Given the description of an element on the screen output the (x, y) to click on. 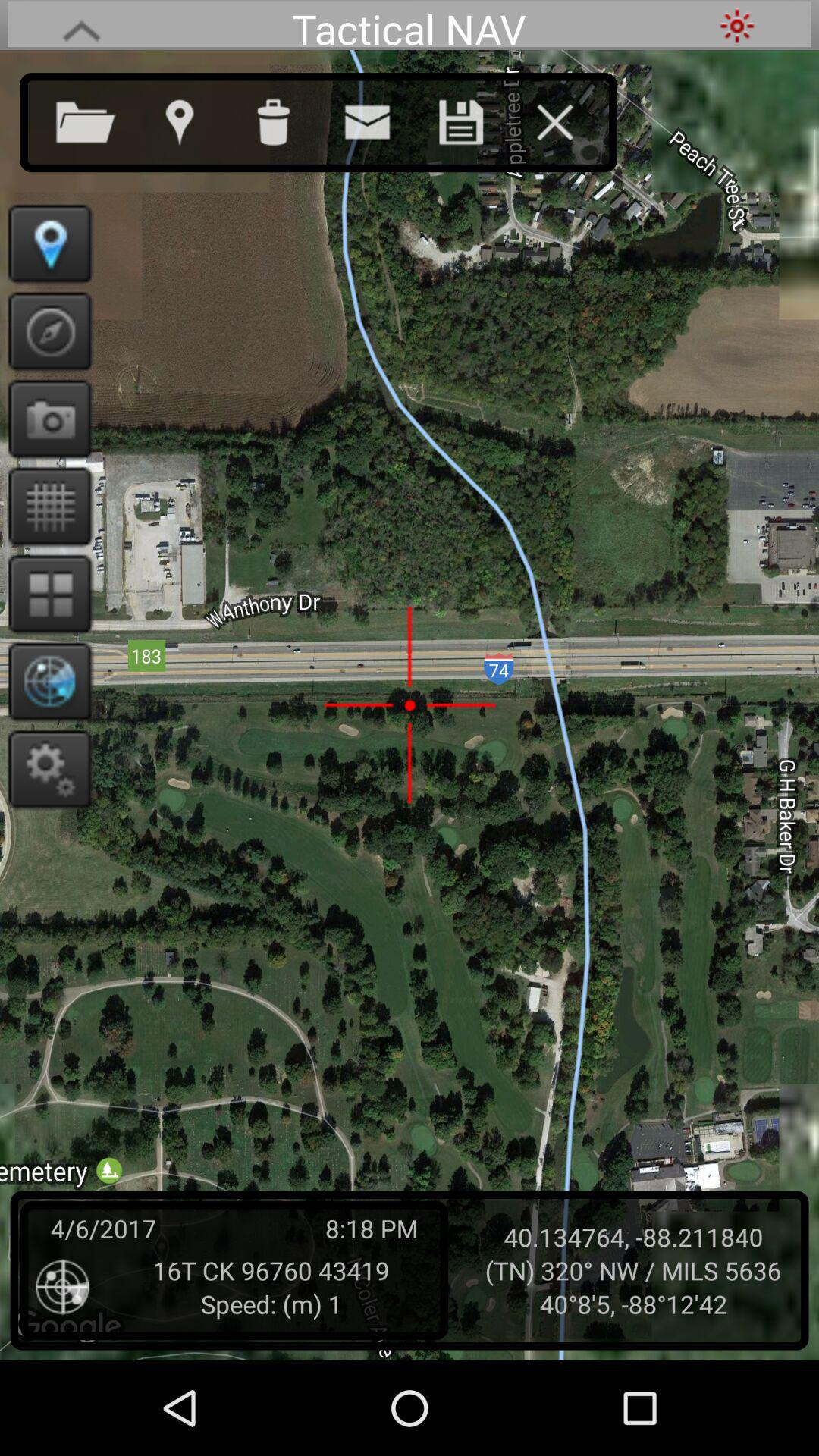
email the coordinates (382, 119)
